Given the description of an element on the screen output the (x, y) to click on. 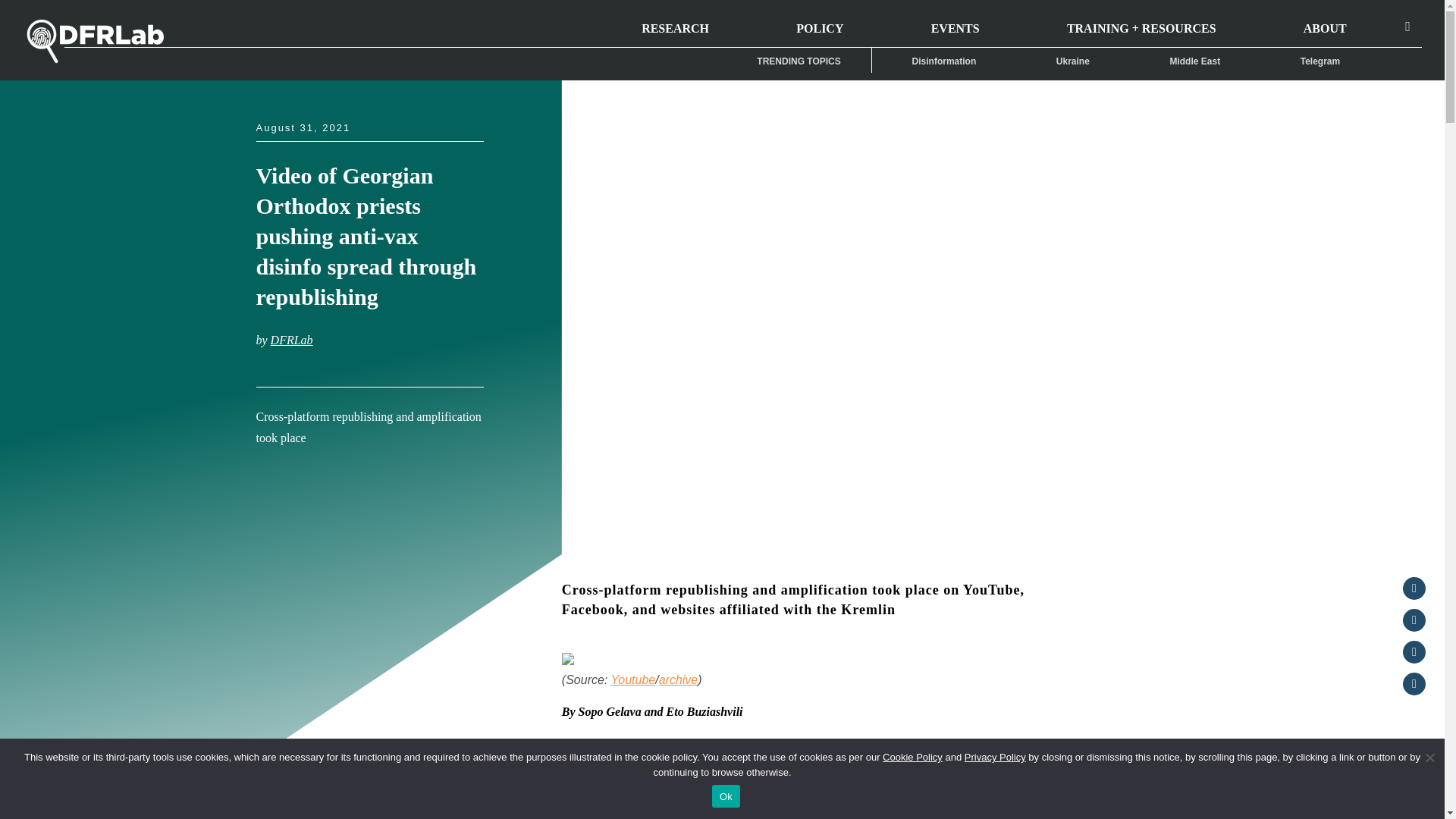
Share on LinkedIn (1414, 683)
Disinformation (944, 61)
Youtube (632, 679)
POLICY (819, 22)
Share on Facebook (1414, 620)
RESEARCH (675, 22)
PRINT ARTICLE (323, 460)
Share by Email (1414, 588)
Telegram (1320, 61)
EVENTS (954, 22)
Middle East (1194, 61)
Ukraine (1072, 61)
archive (678, 679)
Share on Twitter (1414, 651)
ABOUT (1324, 22)
